Given the description of an element on the screen output the (x, y) to click on. 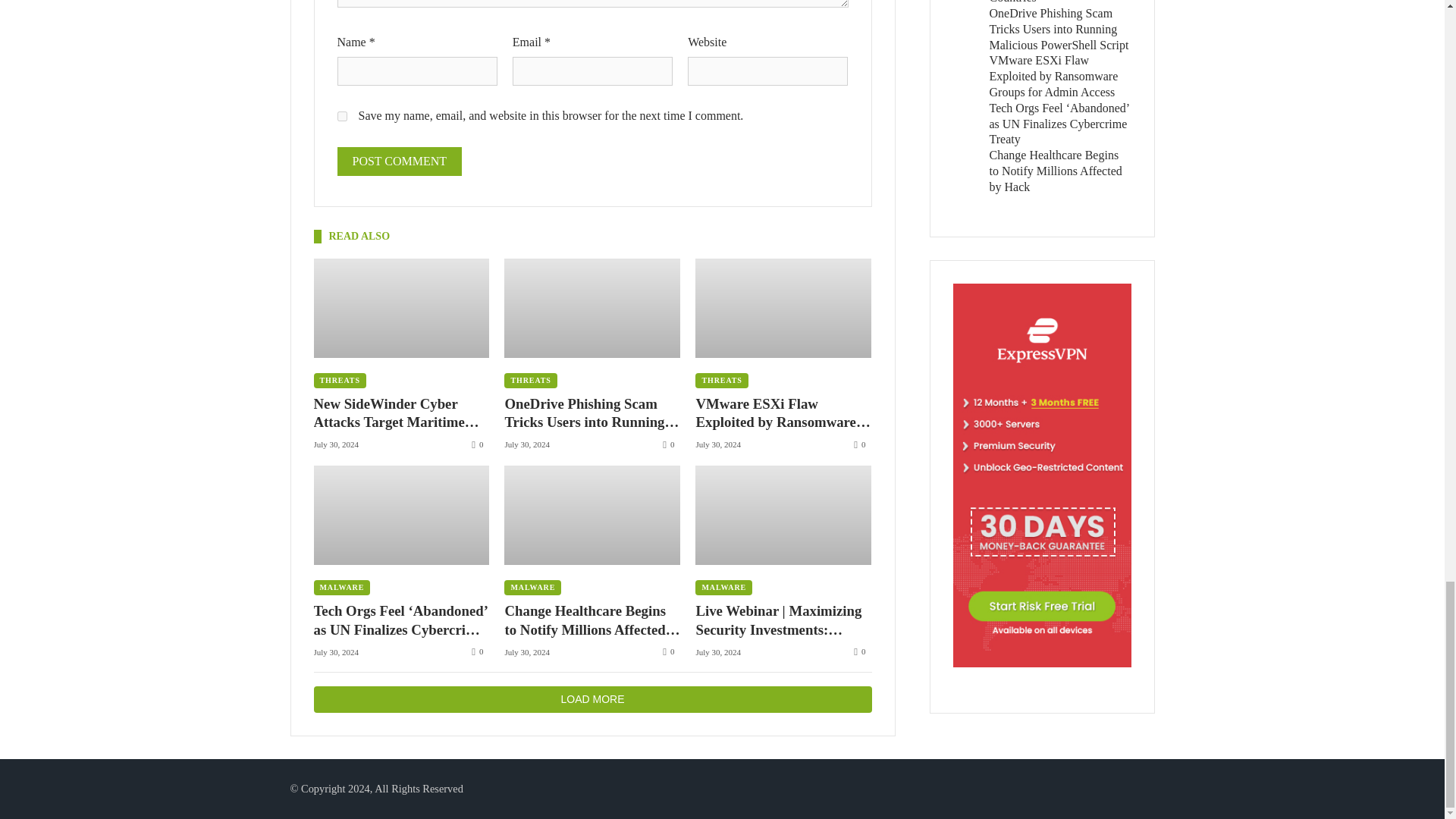
Post Comment (398, 161)
yes (341, 116)
